Given the description of an element on the screen output the (x, y) to click on. 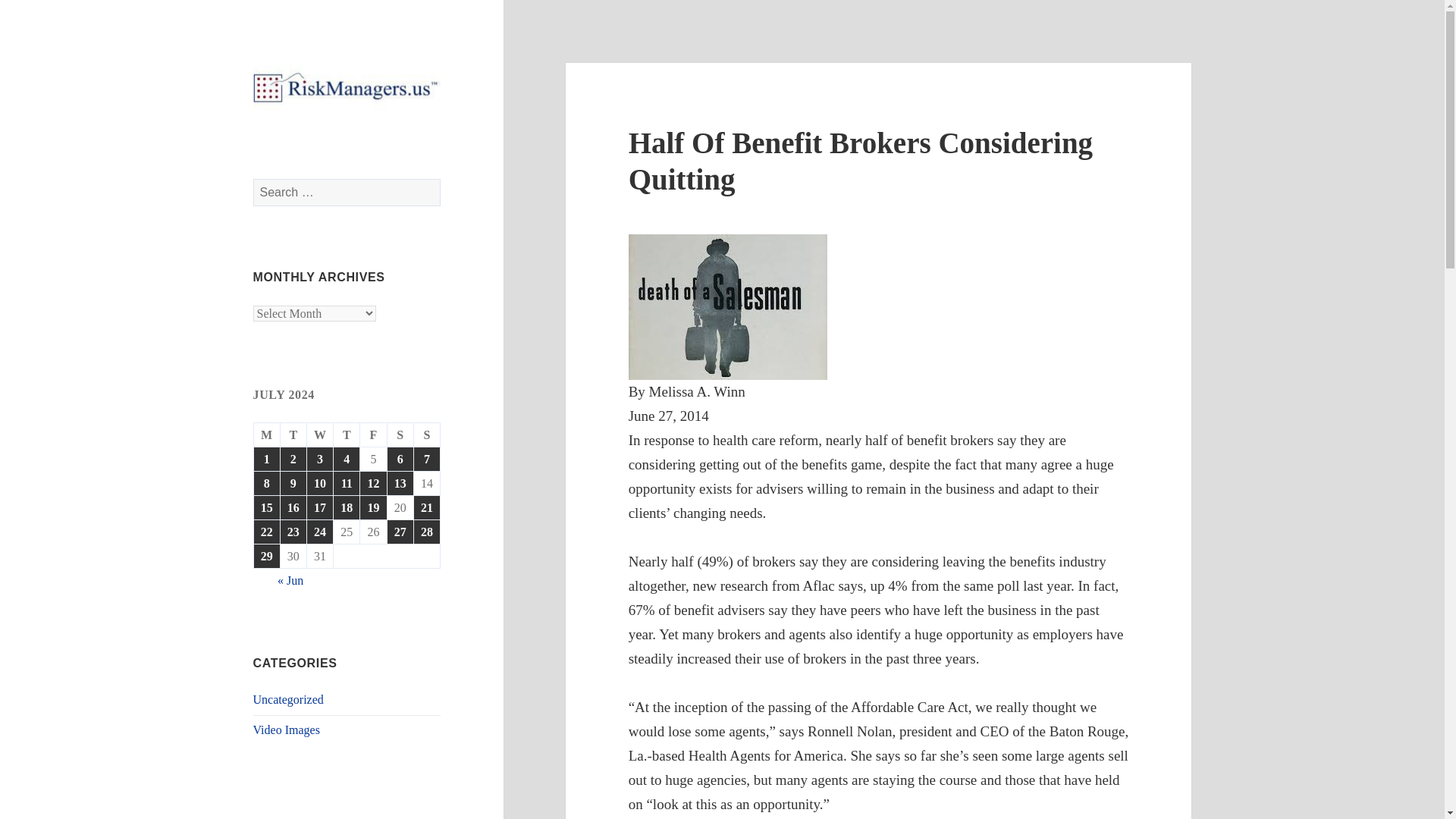
Saturday (400, 435)
Video Images (286, 729)
24 (320, 531)
12 (372, 483)
9 (293, 483)
Uncategorized (288, 698)
Tuesday (294, 435)
11 (346, 483)
16 (293, 507)
21 (426, 507)
1 (266, 458)
23 (293, 531)
28 (426, 531)
Monday (267, 435)
